Given the description of an element on the screen output the (x, y) to click on. 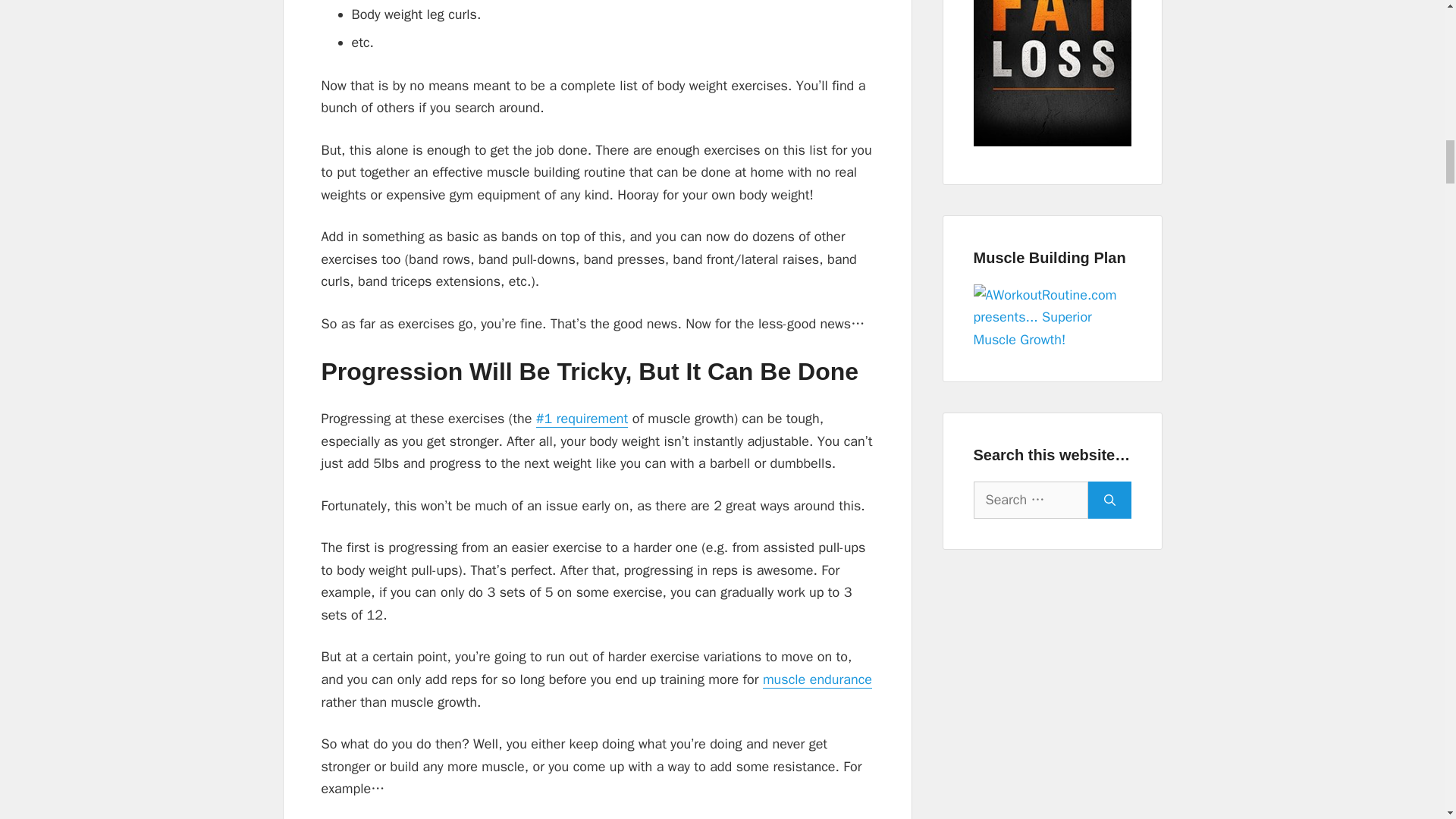
AWorkoutRoutine.com presents... Superior Muscle Growth! (1052, 318)
AWorkoutRoutine.com presents... Superior Fat Loss! (1052, 73)
muscle endurance (817, 679)
Search for: (1030, 499)
